Given the description of an element on the screen output the (x, y) to click on. 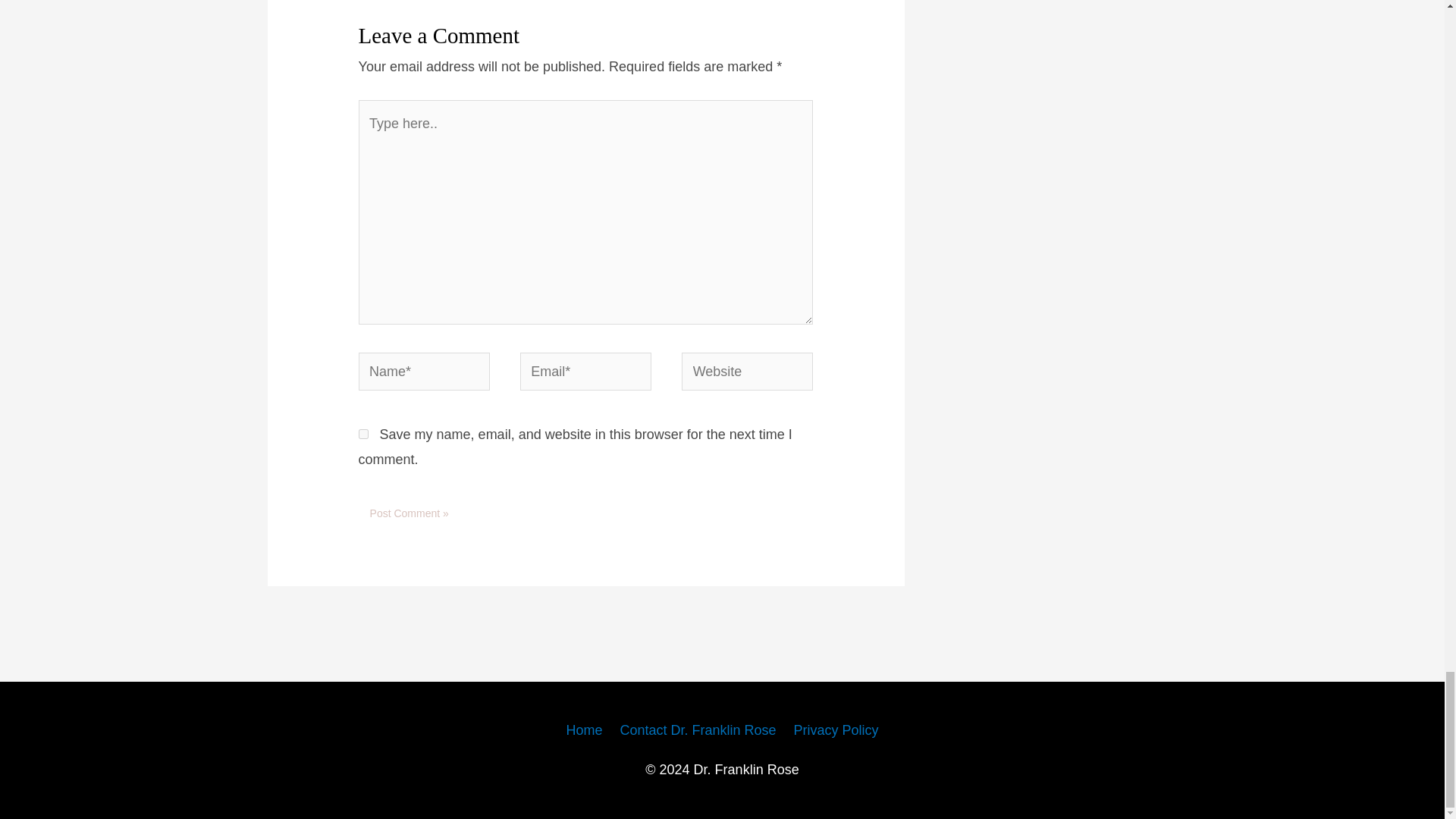
yes (363, 433)
